Given the description of an element on the screen output the (x, y) to click on. 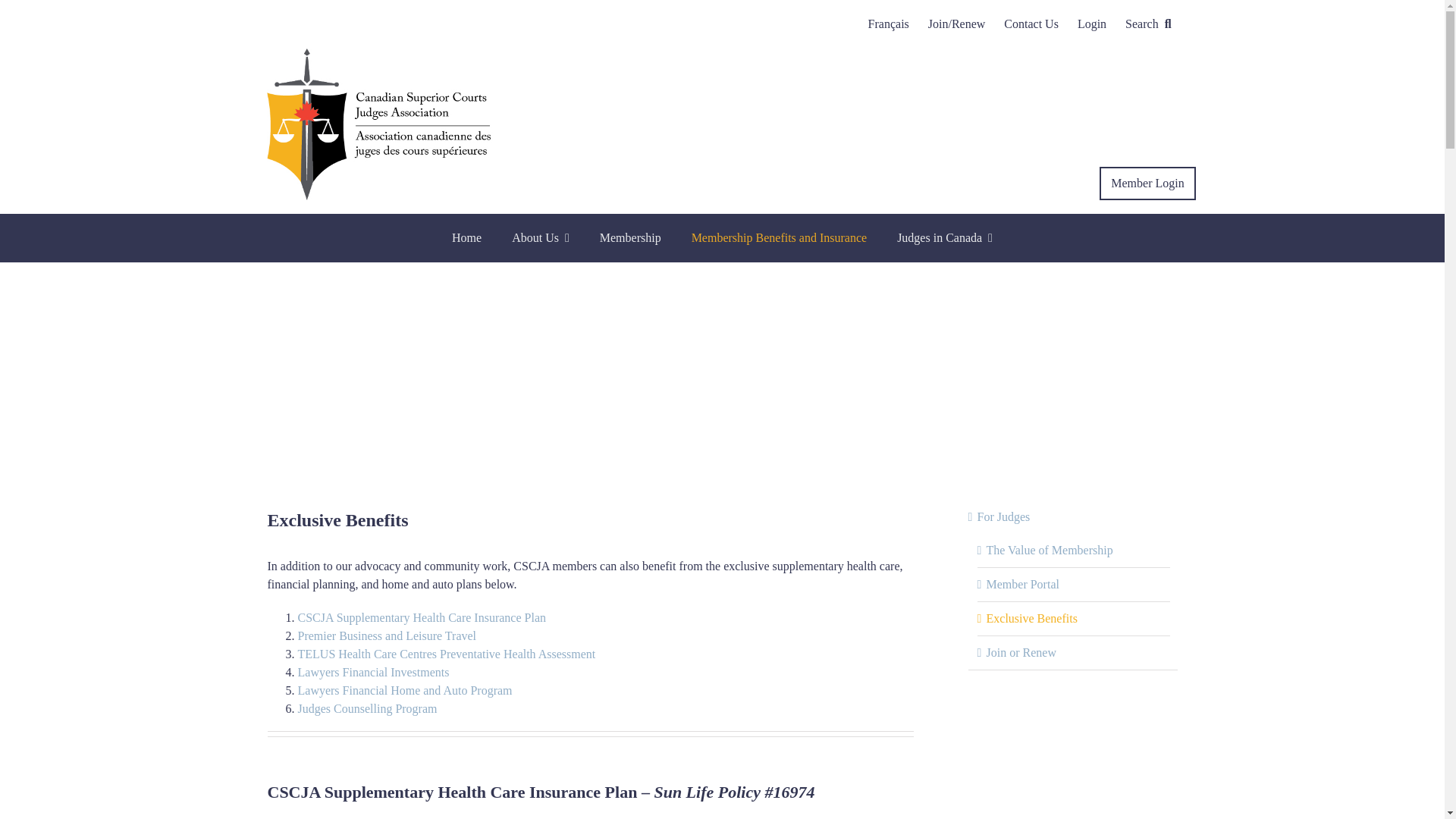
Contact Us (1031, 24)
About Us (540, 237)
Search (1150, 24)
Judges in Canada (944, 237)
Membership Benefits and Insurance (778, 237)
Member Login (1147, 183)
Membership (630, 237)
Search (1150, 24)
